Given the description of an element on the screen output the (x, y) to click on. 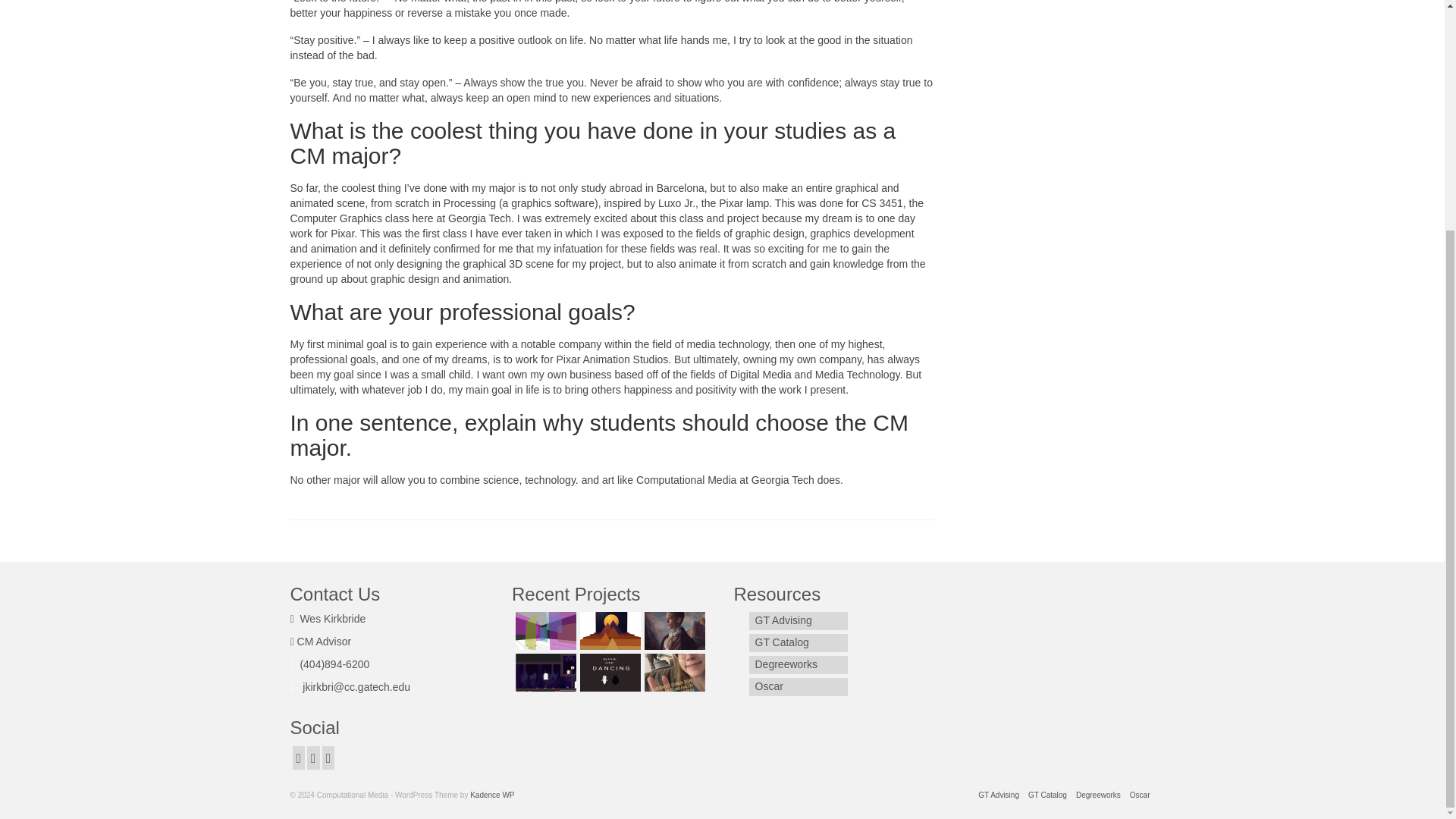
Eliasson Tribute (544, 630)
I Died on a Full Stomach (544, 672)
3D full moon and pyramid rendering (608, 630)
CM Student Instagram Takeover (672, 672)
Blithe Life: Dancing (608, 672)
A Series of 18th Century Photoshop Portraits (672, 630)
